Given the description of an element on the screen output the (x, y) to click on. 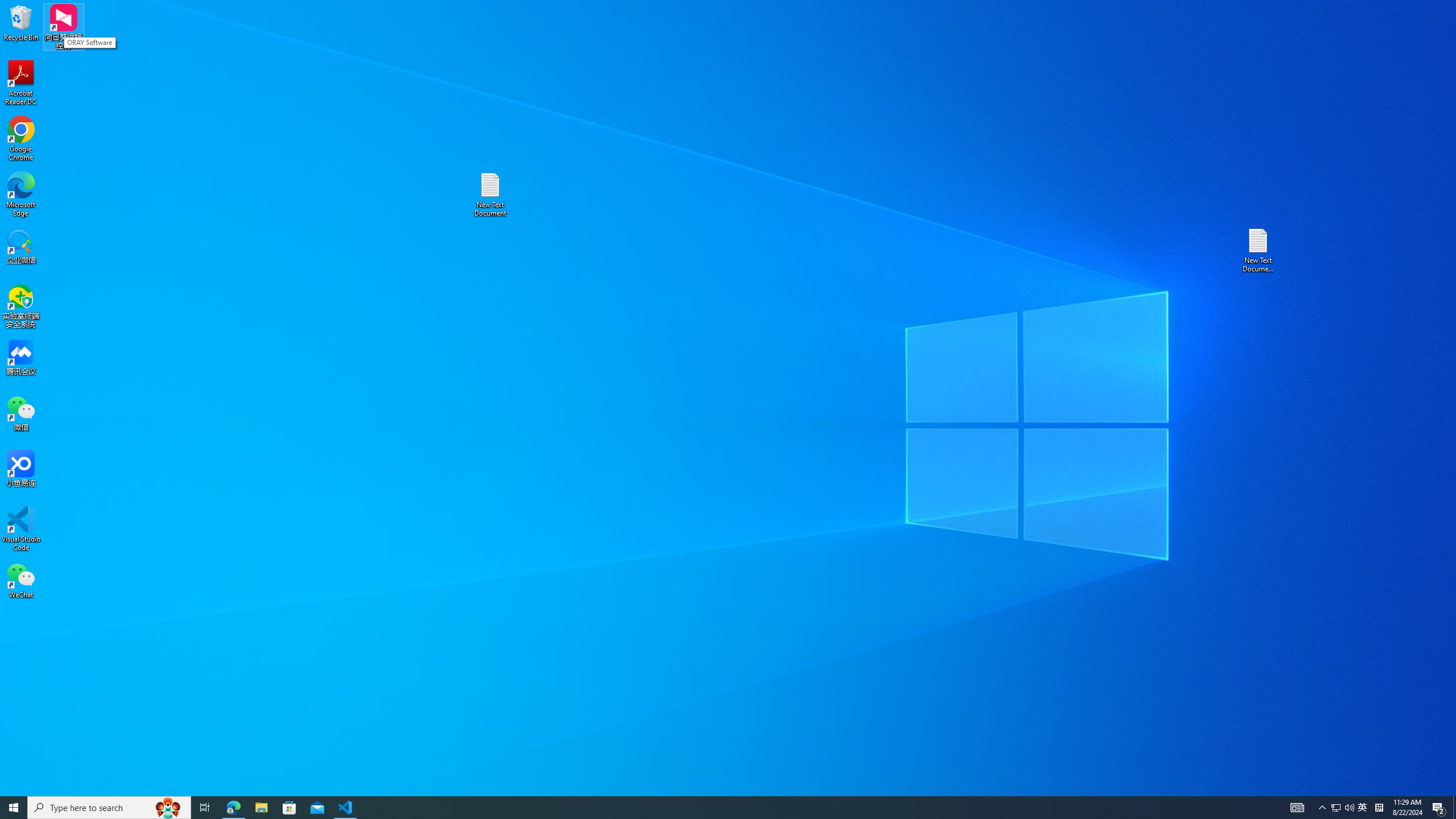
WeChat (21, 580)
Acrobat Reader DC (21, 82)
Recycle Bin (21, 22)
Google Chrome (21, 138)
